Given the description of an element on the screen output the (x, y) to click on. 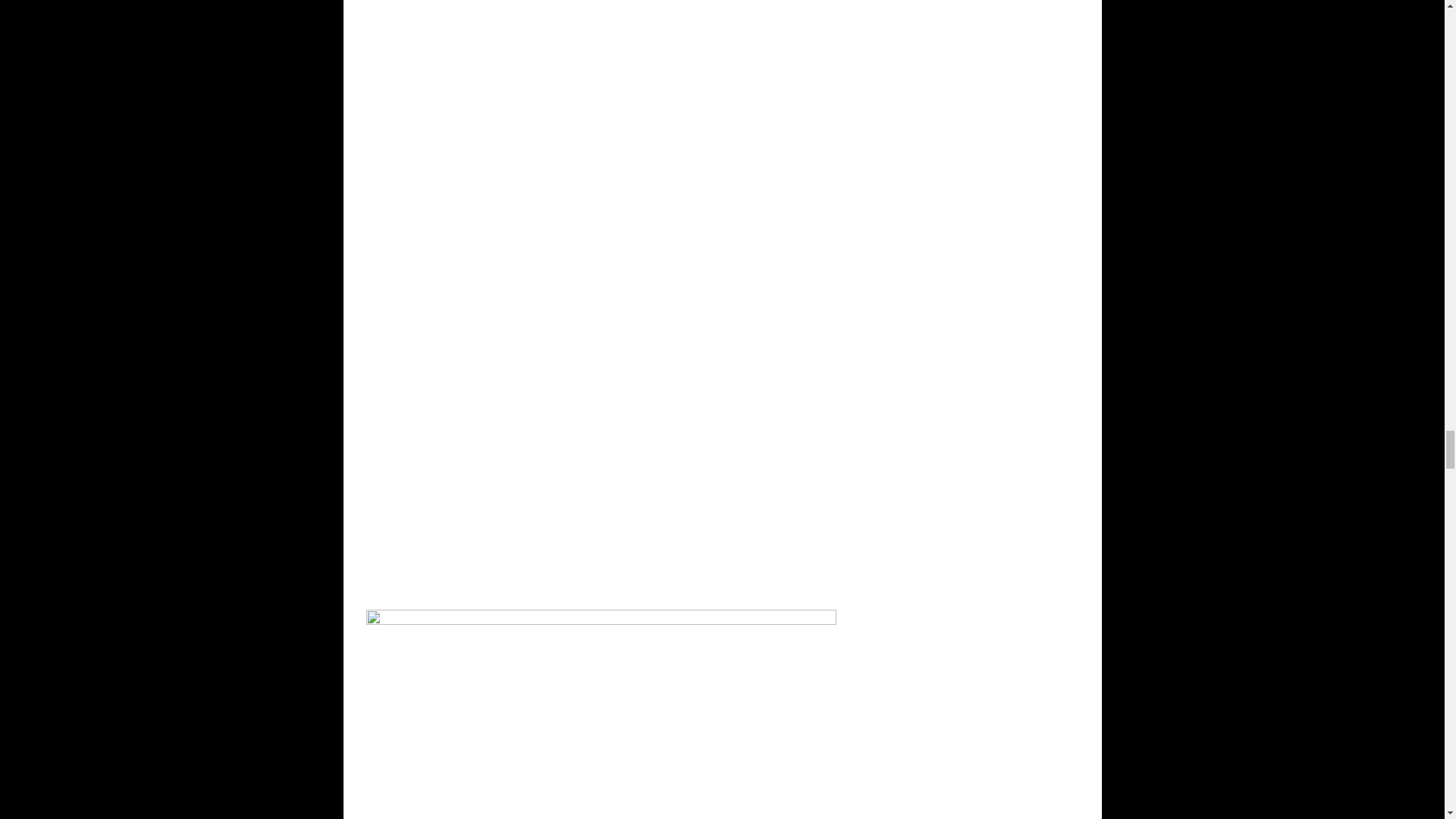
YouTube video player (600, 432)
